Given the description of an element on the screen output the (x, y) to click on. 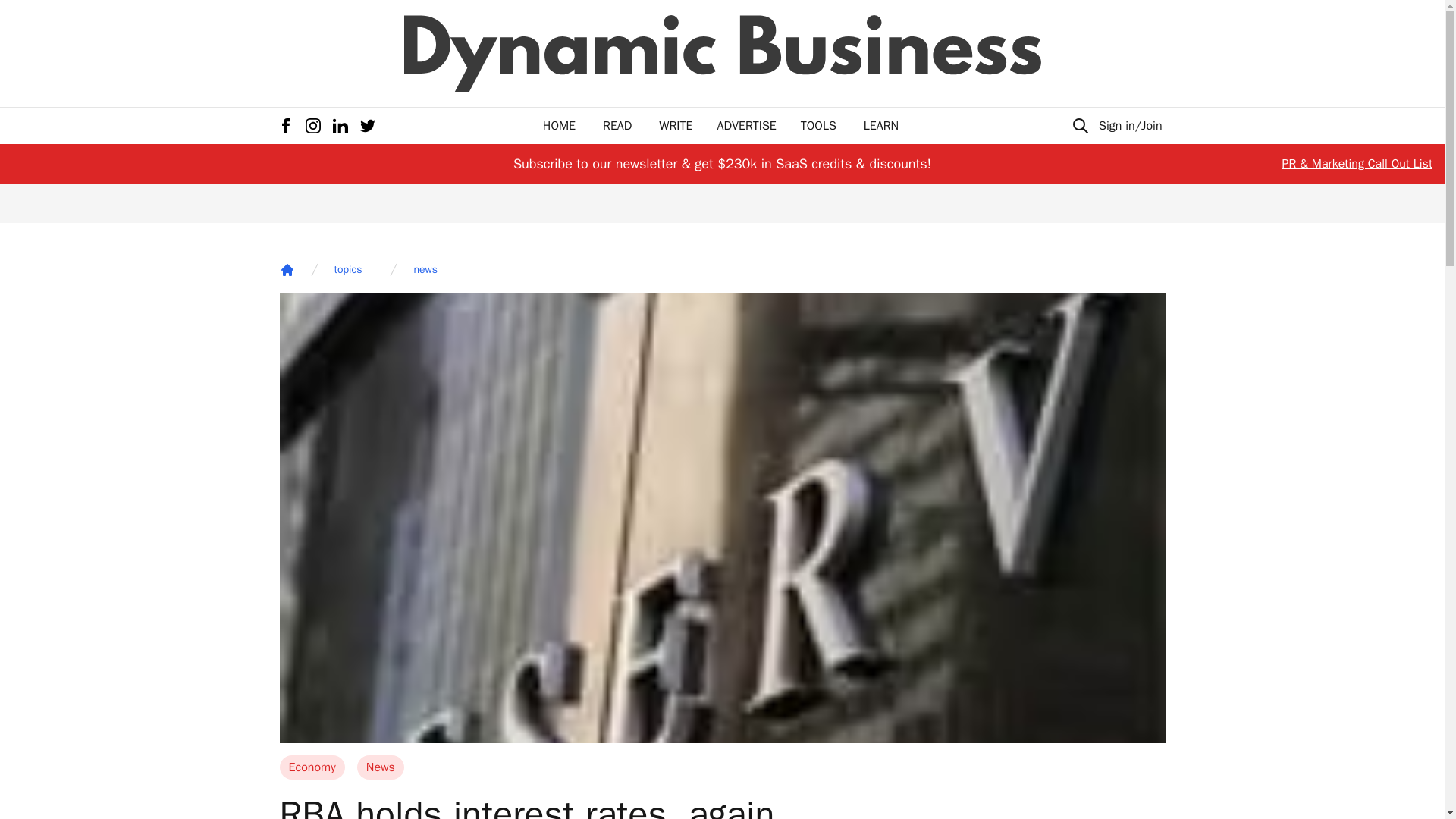
READ (616, 126)
TOOLS (817, 126)
WRITE (676, 126)
News (380, 767)
news (425, 269)
HOME (559, 126)
topics (347, 269)
Home (286, 269)
LEARN (880, 126)
Economy (311, 767)
ADVERTISE (746, 126)
